Given the description of an element on the screen output the (x, y) to click on. 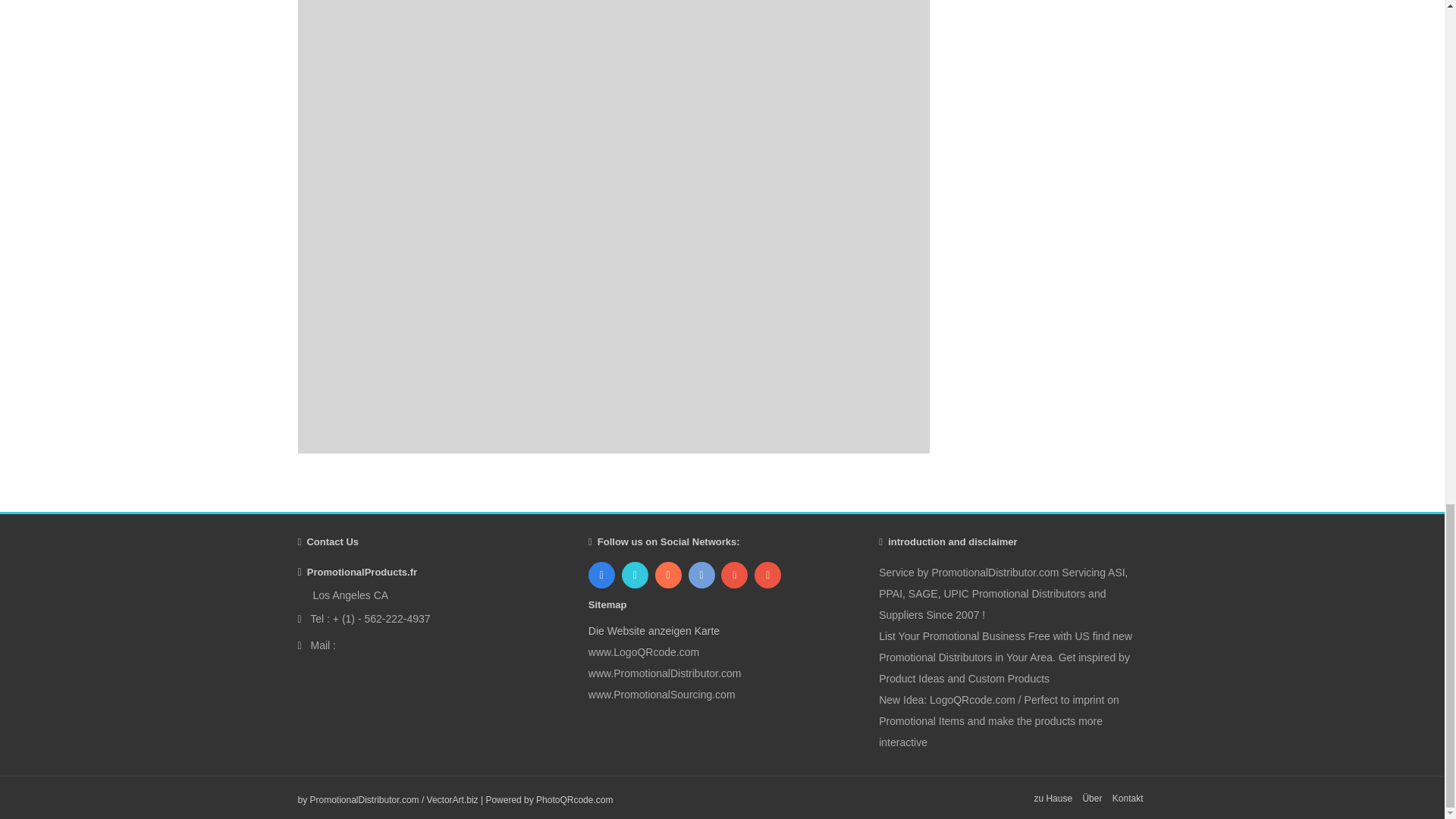
PhotoQRcode.com (573, 799)
Die Website anzeigen Karte (653, 630)
zu Hause (1052, 798)
Kontakt (1127, 798)
